Given the description of an element on the screen output the (x, y) to click on. 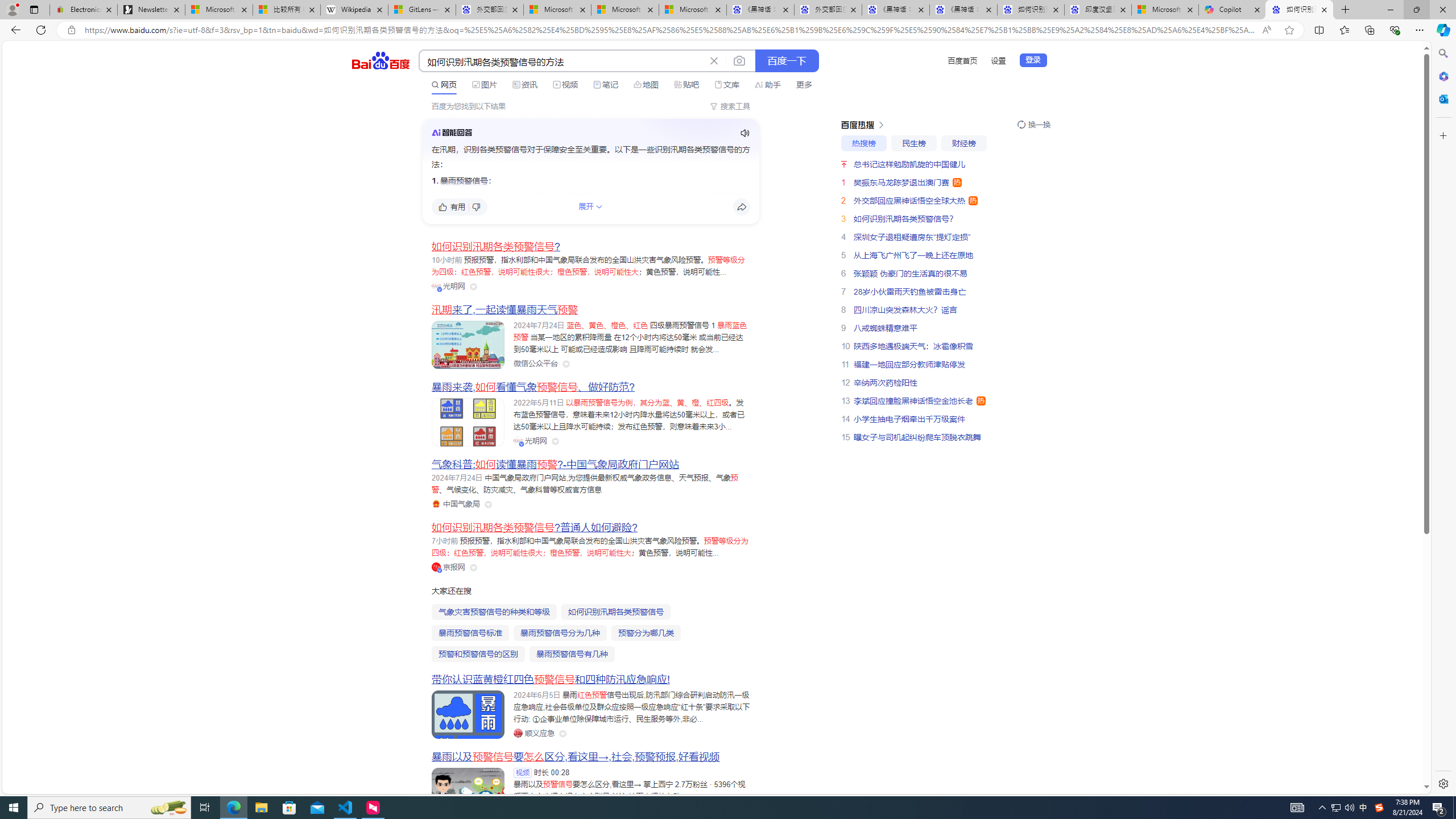
Copilot (1232, 9)
